Given the description of an element on the screen output the (x, y) to click on. 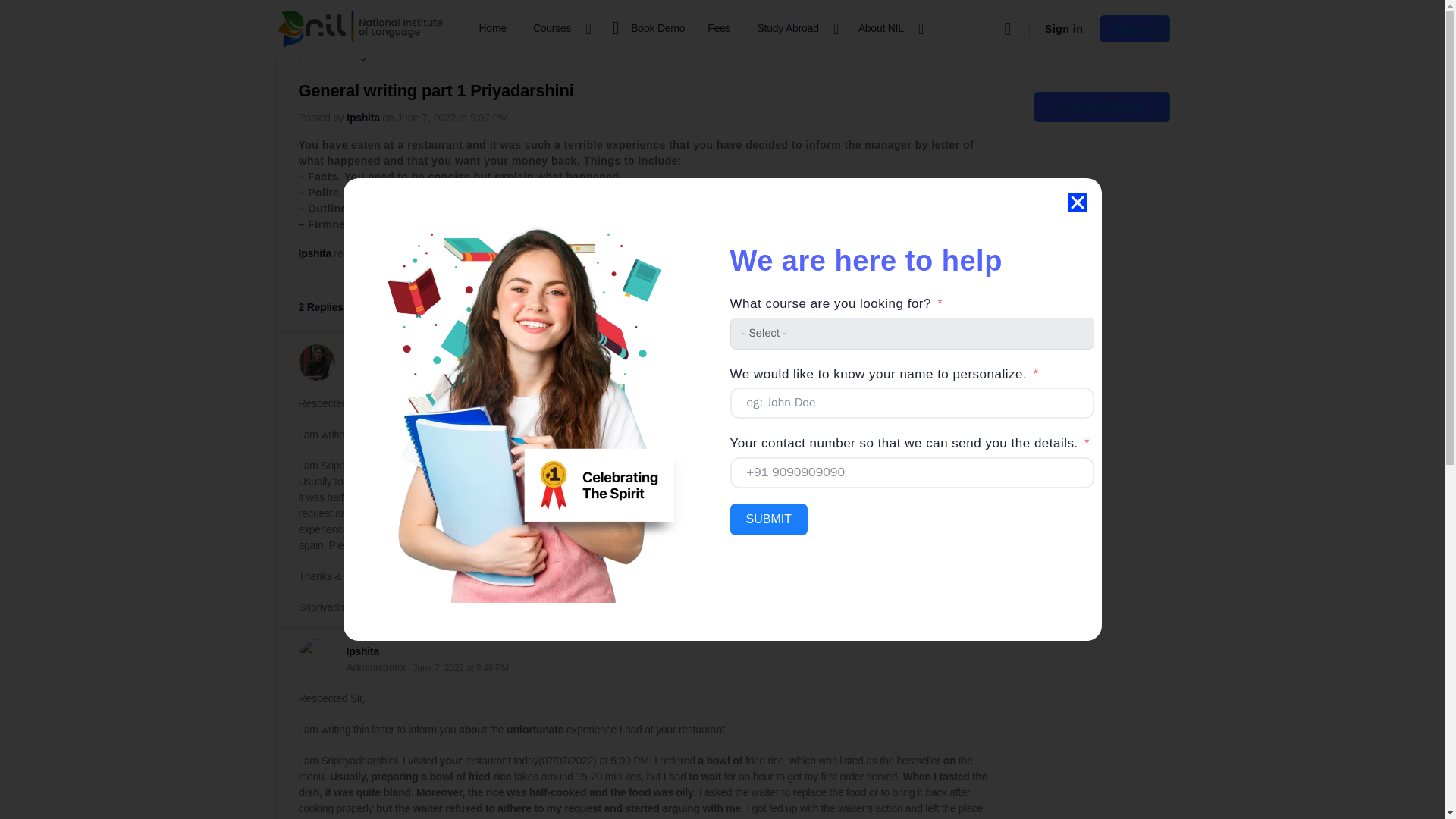
View Sripriyadharshini's profile (316, 361)
View Ipshita's profile (362, 117)
View Sripriyadharshini's profile (387, 356)
Study Abroad (794, 28)
Reply To: General writing part 1 Priyadarshini (422, 253)
View Ipshita's profile (316, 657)
Sign in (1063, 28)
Book Demo (645, 28)
Sign up (1134, 28)
View Ipshita's profile (362, 651)
